Given the description of an element on the screen output the (x, y) to click on. 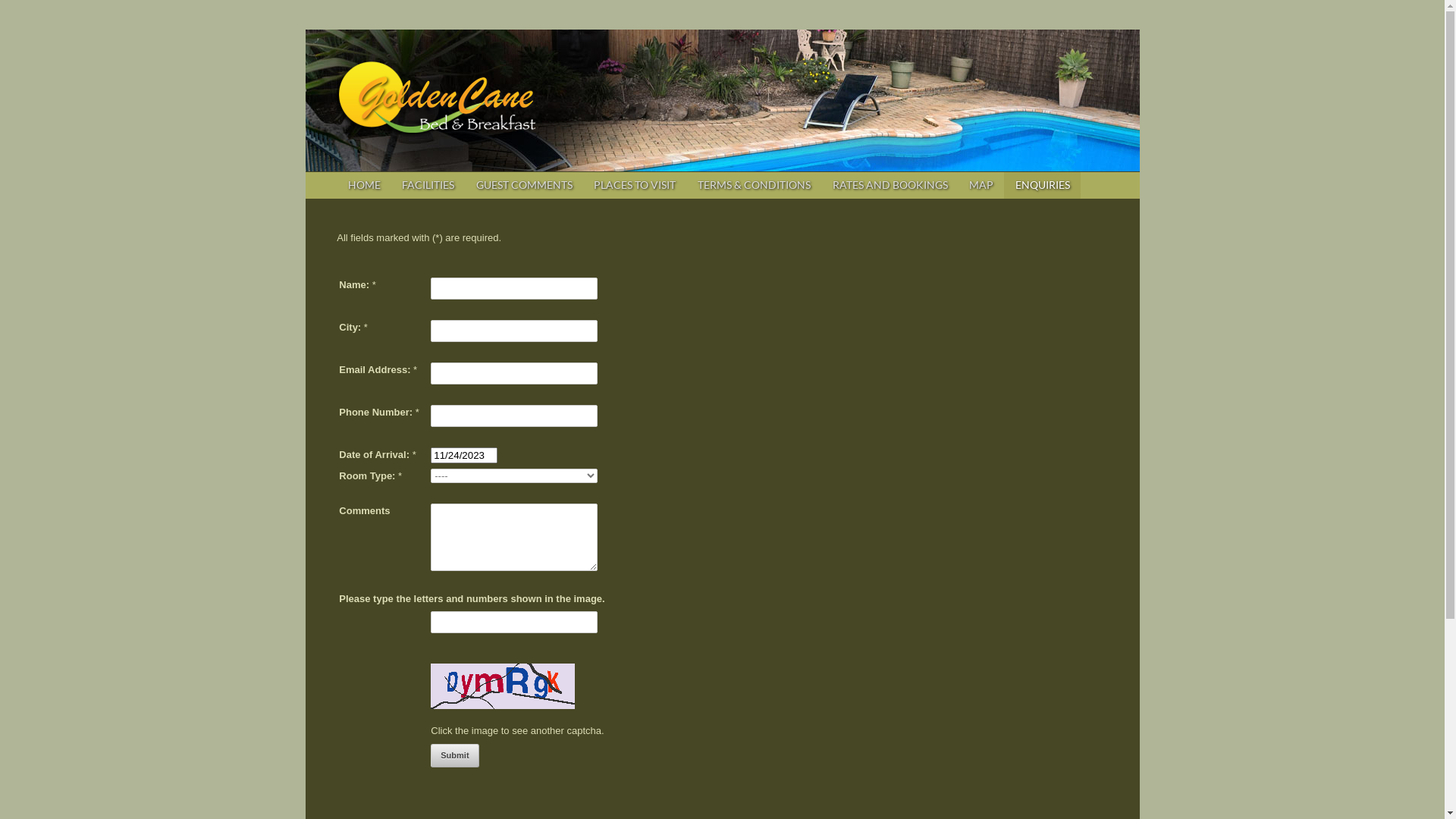
GUEST COMMENTS Element type: text (523, 185)
TERMS & CONDITIONS Element type: text (754, 185)
RATES AND BOOKINGS Element type: text (889, 185)
Submit Element type: text (454, 755)
Golden Cane Bargara Element type: hover (436, 123)
MAP Element type: text (981, 185)
FACILITIES Element type: text (428, 185)
PLACES TO VISIT Element type: text (635, 185)
HOME Element type: text (363, 185)
ENQUIRIES Element type: text (1042, 185)
